Given the description of an element on the screen output the (x, y) to click on. 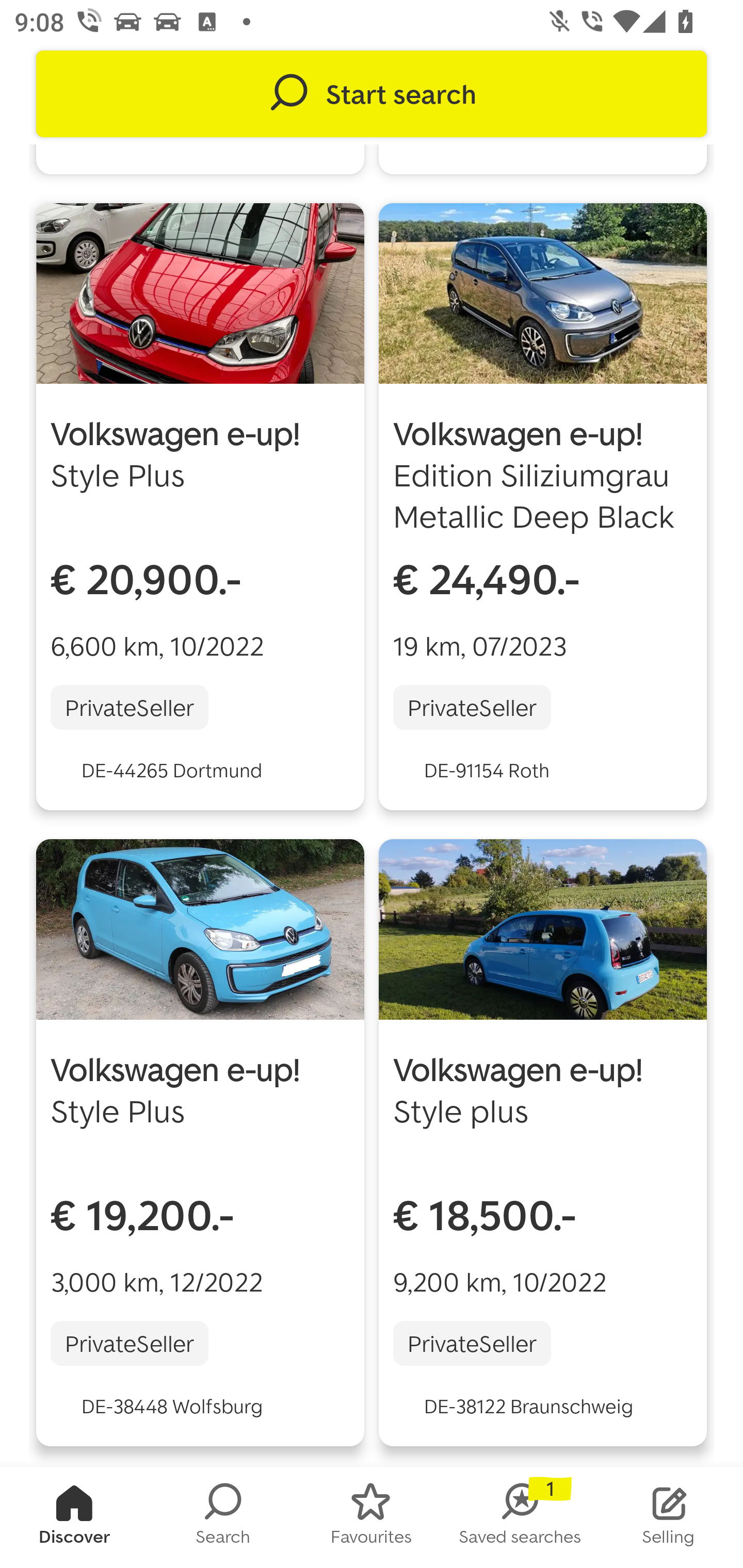
Start search (371, 93)
HOMESCREEN Discover (74, 1517)
SEARCH Search (222, 1517)
FAVORITES Favourites (371, 1517)
SAVED_SEARCHES Saved searches 1 (519, 1517)
STOCK_LIST Selling (668, 1517)
